Given the description of an element on the screen output the (x, y) to click on. 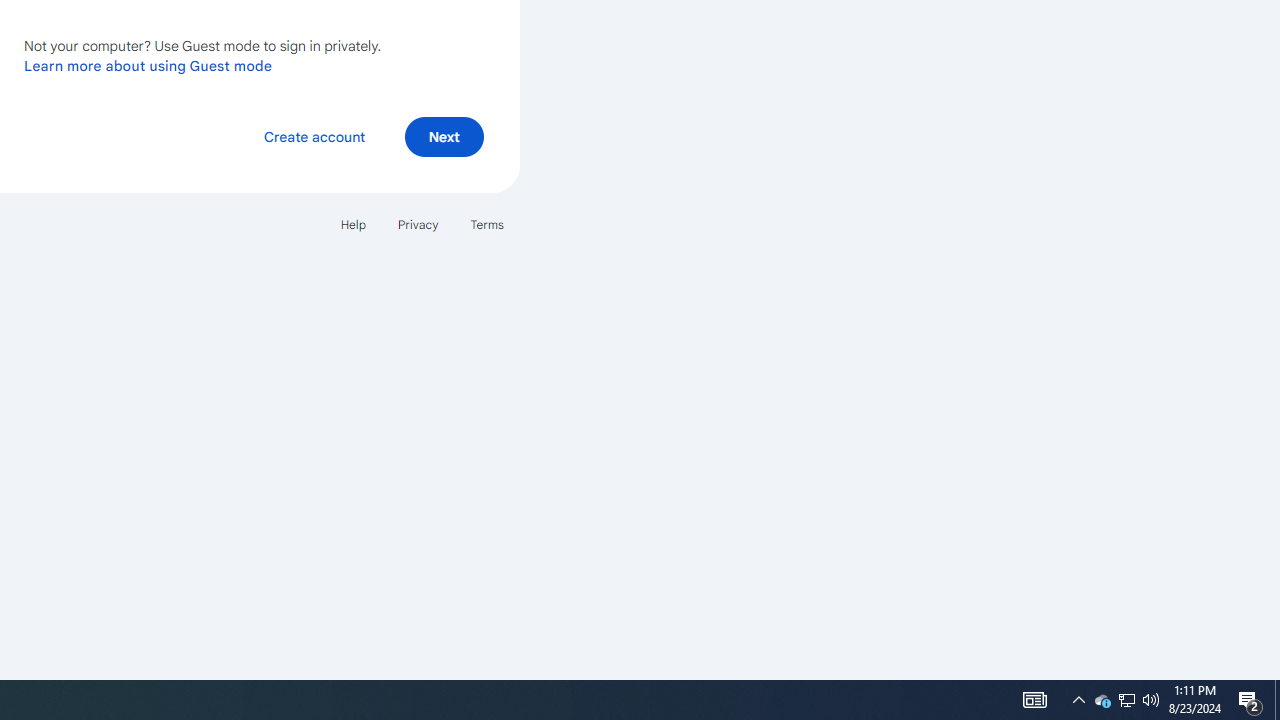
Next (443, 135)
Learn more about using Guest mode (148, 65)
Create account (314, 135)
